Given the description of an element on the screen output the (x, y) to click on. 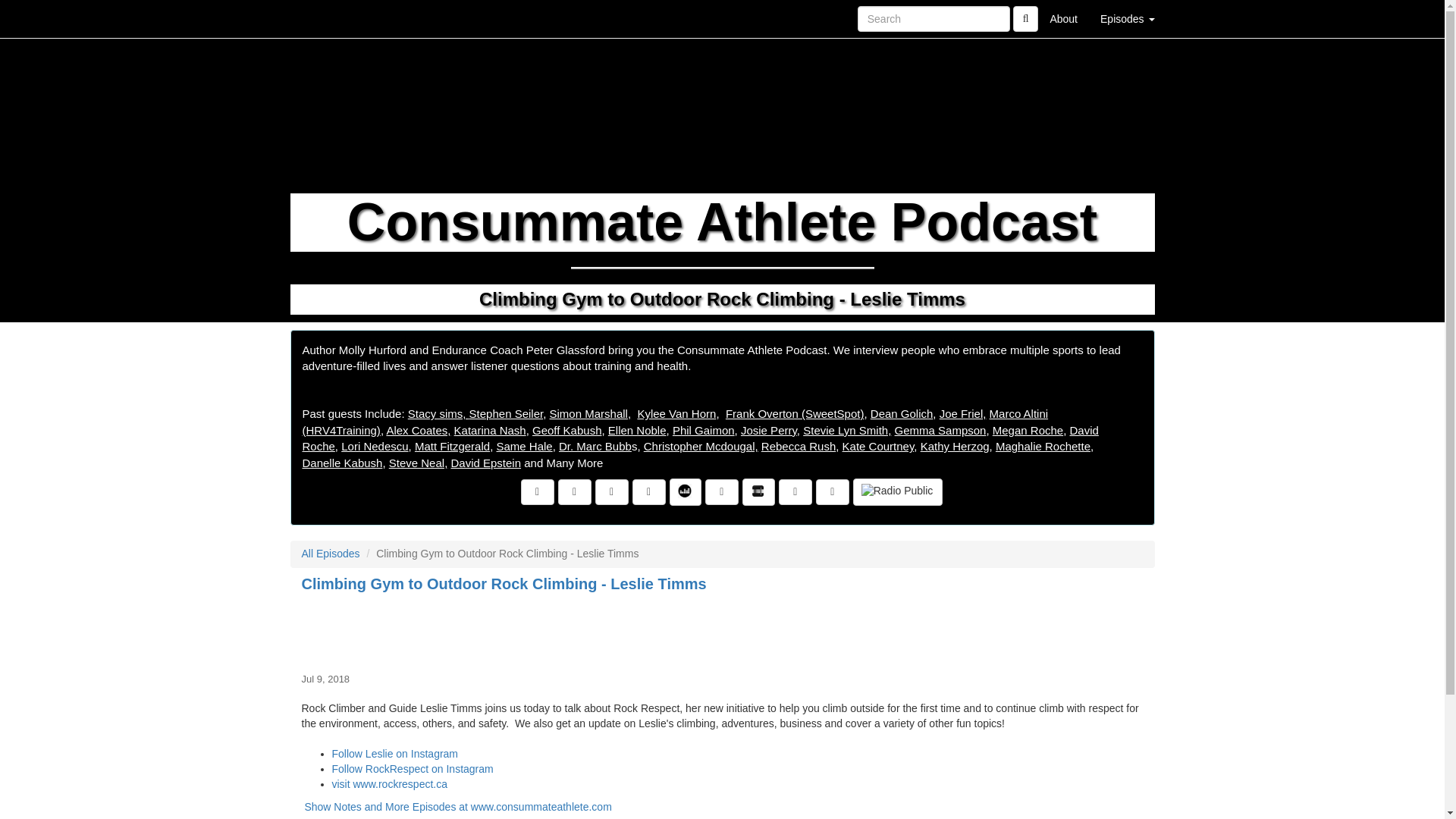
Subscribe to RSS Feed (648, 492)
Listen on Stitcher (758, 492)
Listen on Radio Public (898, 492)
View Our LinkedIn Page (611, 492)
Visit Us on Twitter (574, 492)
Go To YouTube Channel (831, 492)
Listen on Deezer (685, 492)
Visit Us on Facebook (537, 492)
Listen on Apple Podcasts (721, 492)
Listen on Spotify (795, 492)
